Given the description of an element on the screen output the (x, y) to click on. 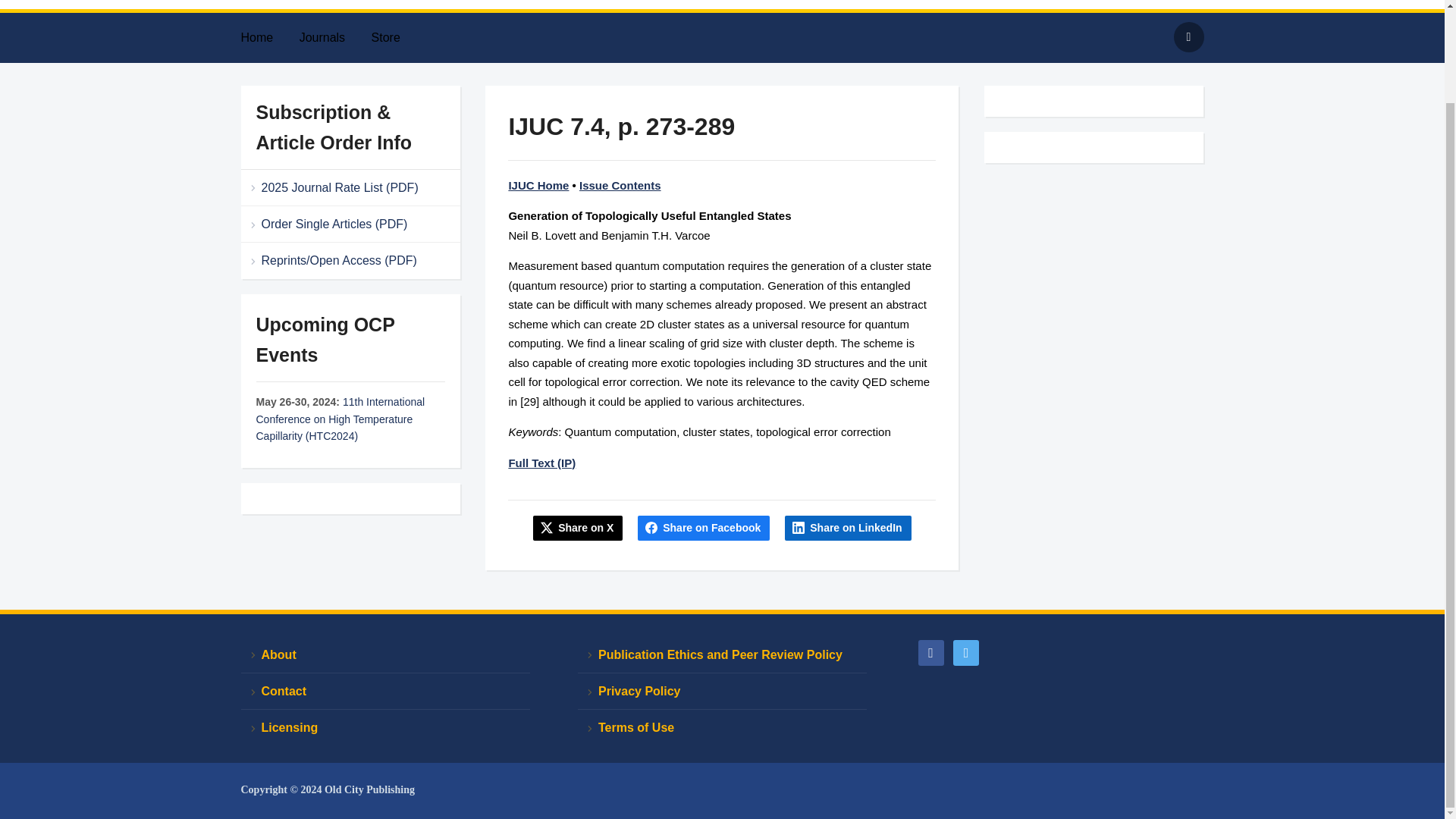
About (385, 655)
twitter (965, 651)
Privacy Policy (722, 691)
Share this on Facebook (703, 527)
Share on Facebook (703, 527)
Share this on X (577, 527)
Share on LinkedIn (847, 527)
Share on X (577, 527)
Journals (333, 37)
Home (269, 37)
